Given the description of an element on the screen output the (x, y) to click on. 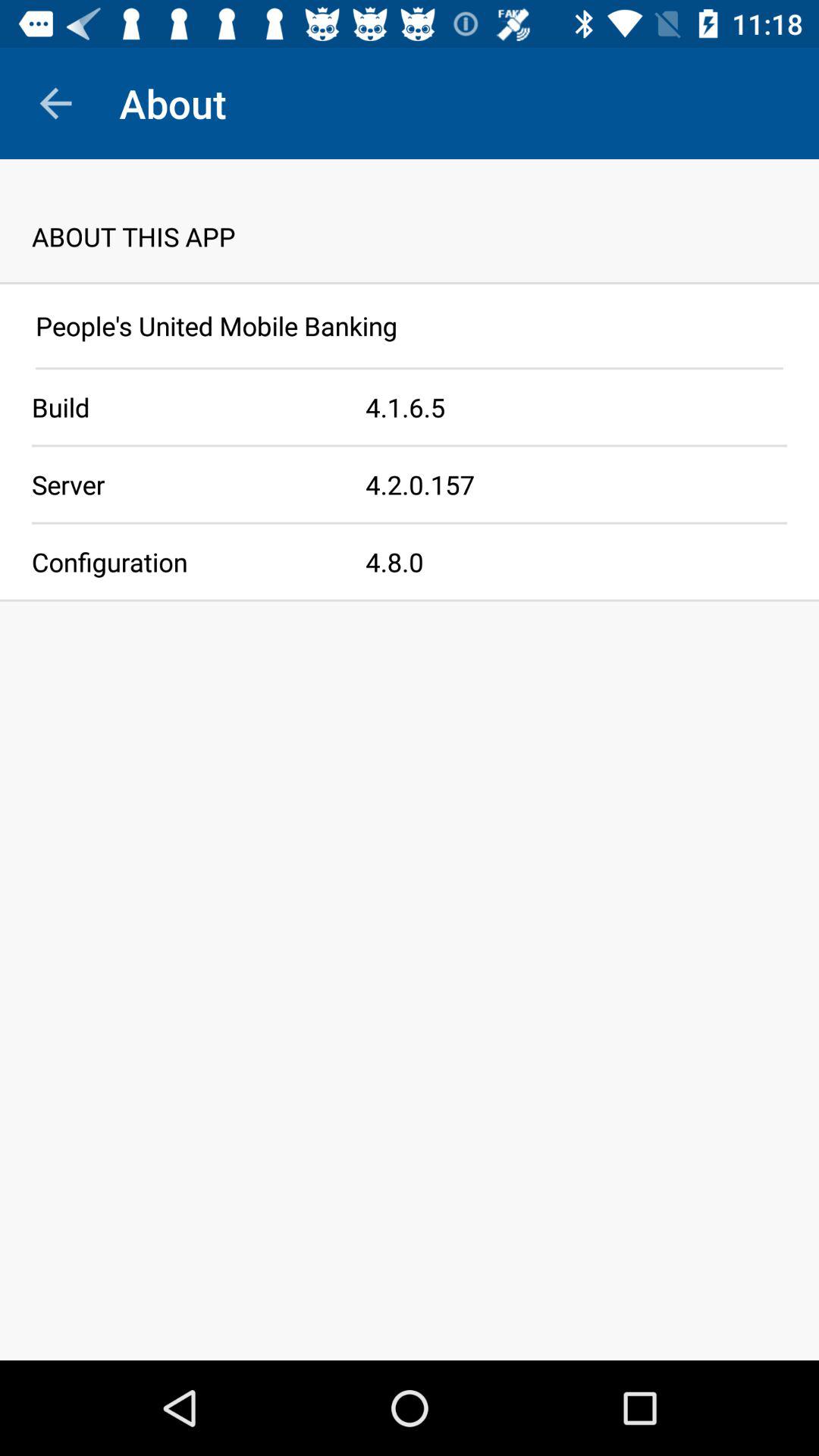
swipe to the people s united item (409, 325)
